Given the description of an element on the screen output the (x, y) to click on. 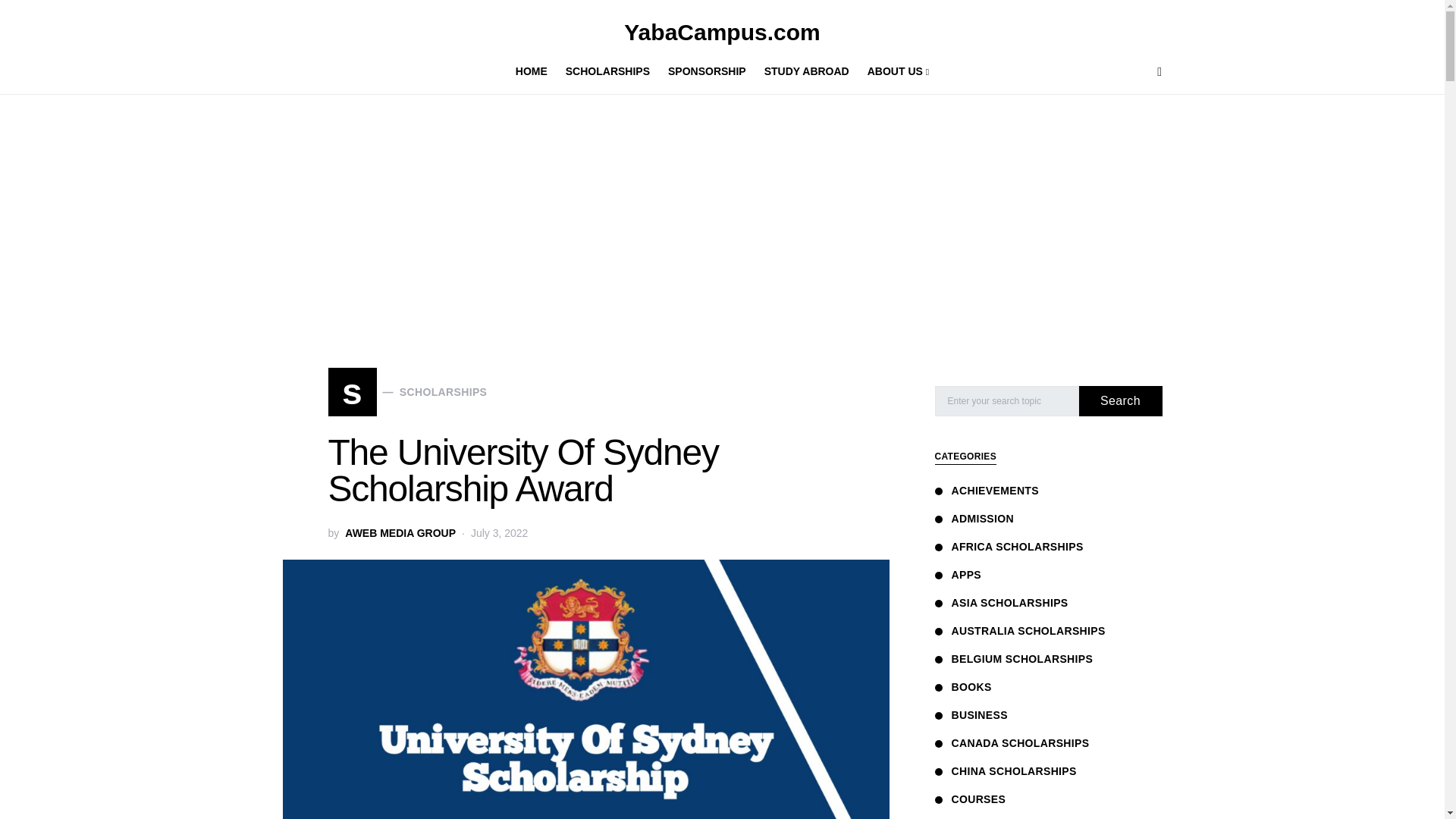
ABOUT US (894, 71)
HOME (535, 71)
SCHOLARSHIPS (607, 71)
SPONSORSHIP (406, 391)
View all posts by AWEB MEDIA GROUP (707, 71)
YabaCampus.com (400, 533)
STUDY ABROAD (721, 32)
AWEB MEDIA GROUP (807, 71)
